Given the description of an element on the screen output the (x, y) to click on. 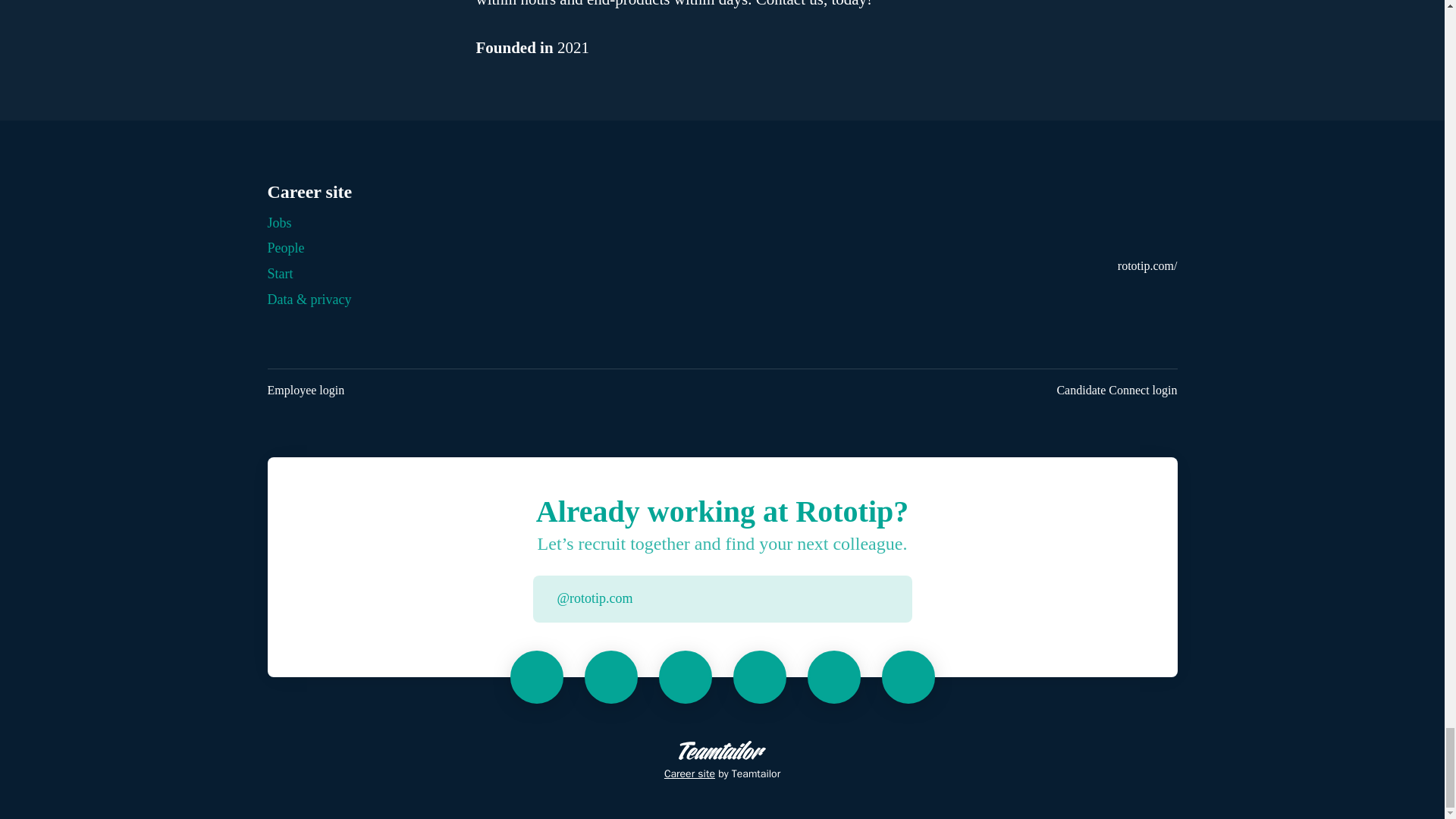
People (285, 247)
Bart Nowak (610, 676)
Galip Okan Ozturk (685, 676)
Log in (899, 598)
Onur Ozturk (759, 676)
Jobs (278, 222)
linkedin (1173, 296)
Start (279, 273)
